Given the description of an element on the screen output the (x, y) to click on. 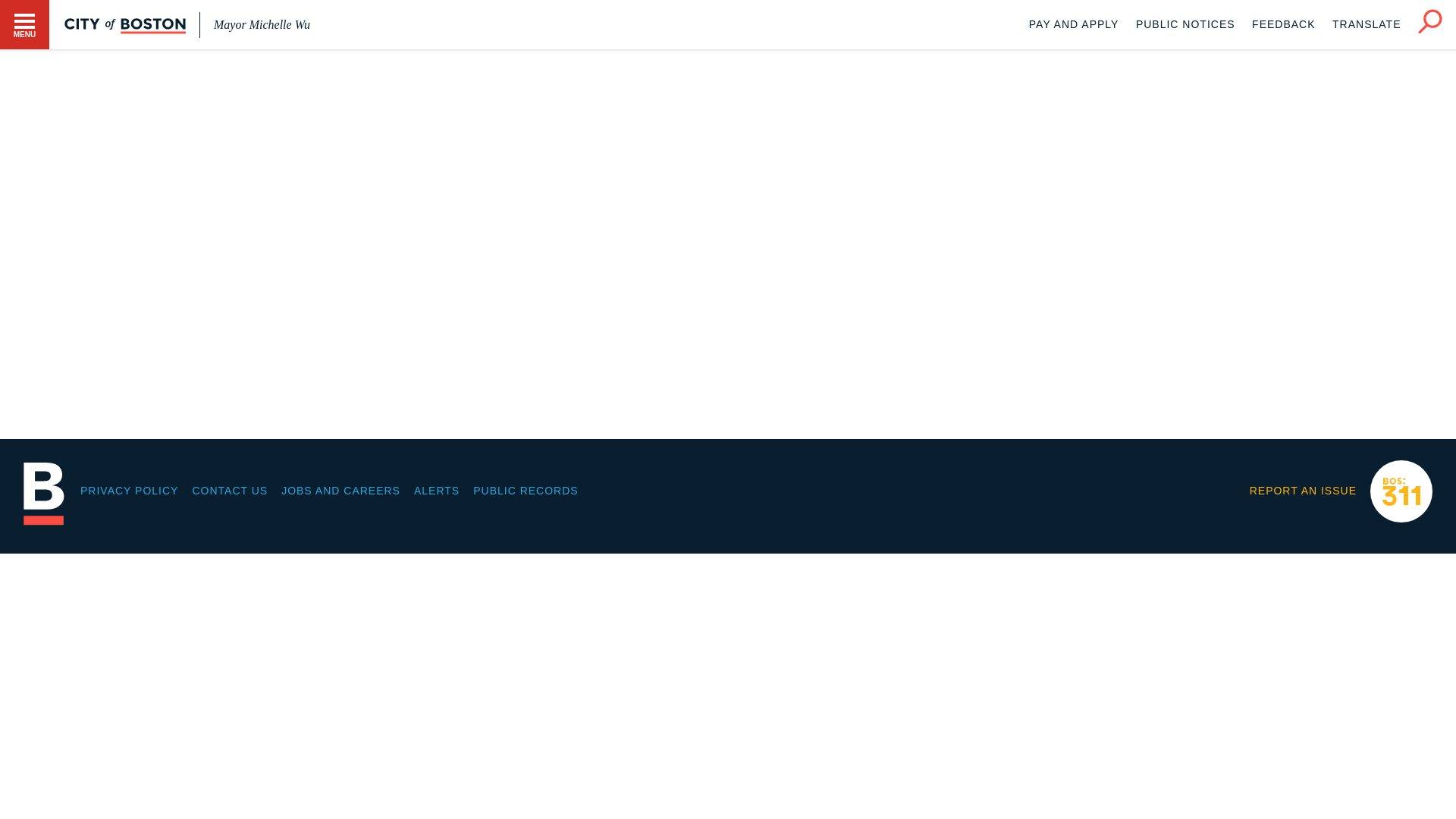
PAY AND APPLY (1074, 24)
TRANSLATE (1366, 24)
Mayor Michelle Wu (262, 24)
FEEDBACK (1283, 24)
Translate (1366, 24)
PUBLIC NOTICES (1184, 24)
SEARCH (1430, 21)
